Given the description of an element on the screen output the (x, y) to click on. 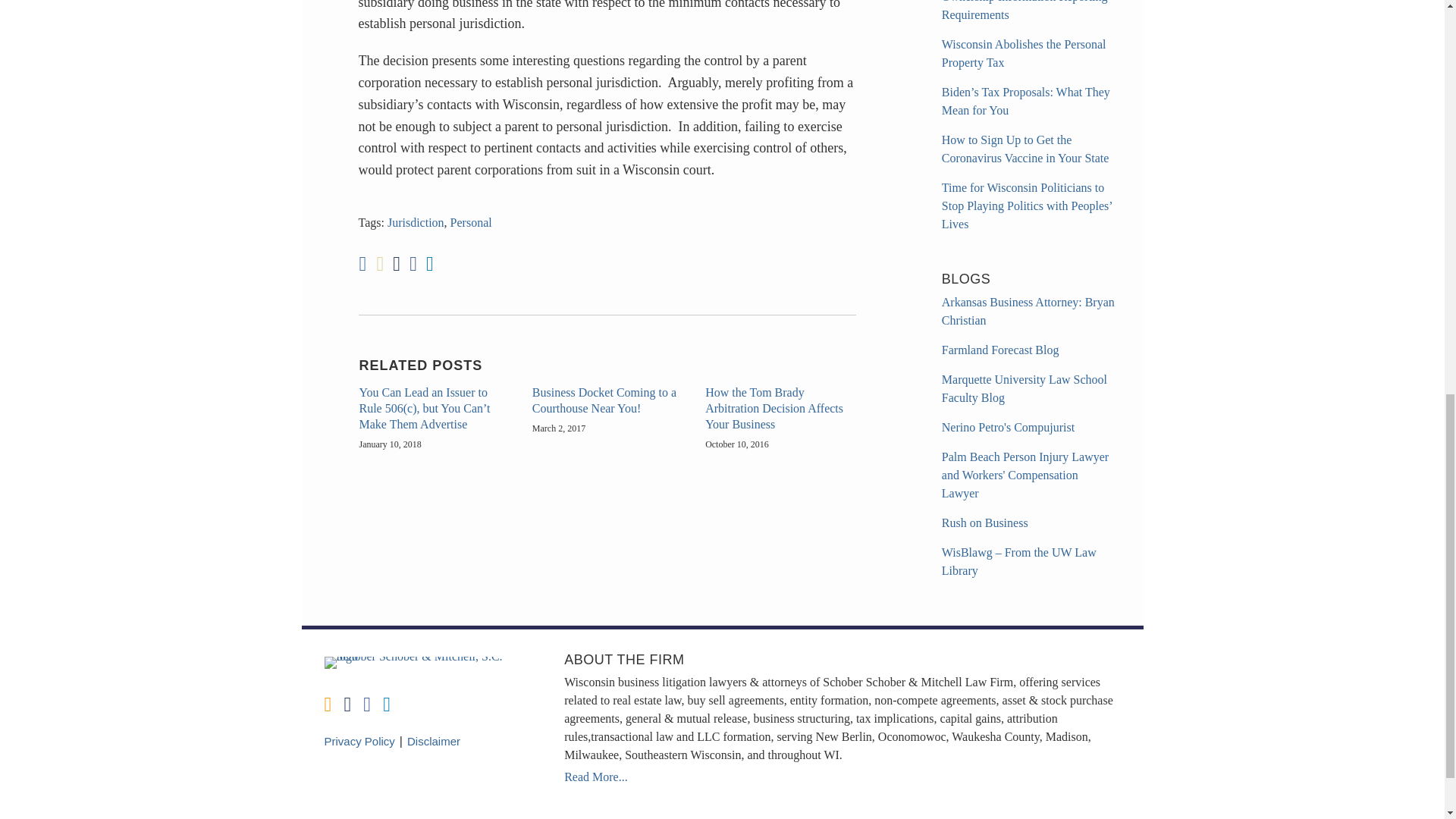
Marquette University Law School Faculty Blog (1024, 388)
How the Tom Brady Arbitration Decision Affects Your Business (780, 408)
Business Docket Coming to a Courthouse Near You! (607, 400)
How to Sign Up to Get the Coronavirus Vaccine in Your State (1025, 148)
Arkansas Business Attorney: Bryan Christian (1028, 310)
Wisconsin Abolishes the Personal Property Tax (1024, 52)
Nerino Petro's Compujurist (1008, 427)
Jurisdiction (415, 222)
Rush on Business (984, 522)
Personal (470, 222)
Farmland Forecast Blog (1000, 349)
